Given the description of an element on the screen output the (x, y) to click on. 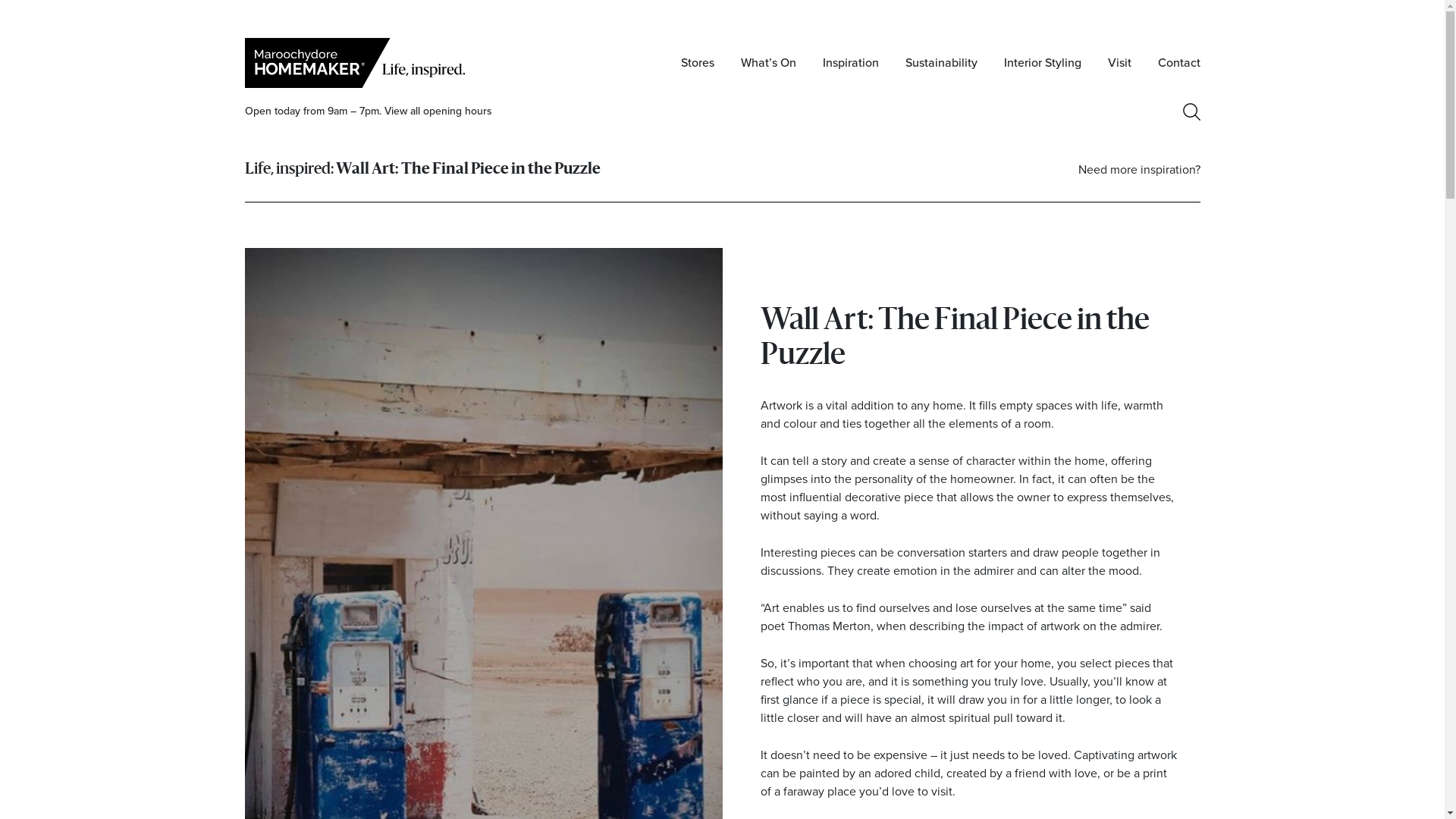
Sustainability Element type: text (941, 62)
Maroochydore Homemaker Centre Element type: hover (357, 61)
Contact Element type: text (1178, 62)
Interior Styling Element type: text (1042, 62)
Inspiration Element type: text (850, 62)
View all opening hours Element type: text (437, 110)
Need more inspiration? Element type: text (1139, 169)
Visit Element type: text (1118, 62)
Stores Element type: text (697, 62)
